Given the description of an element on the screen output the (x, y) to click on. 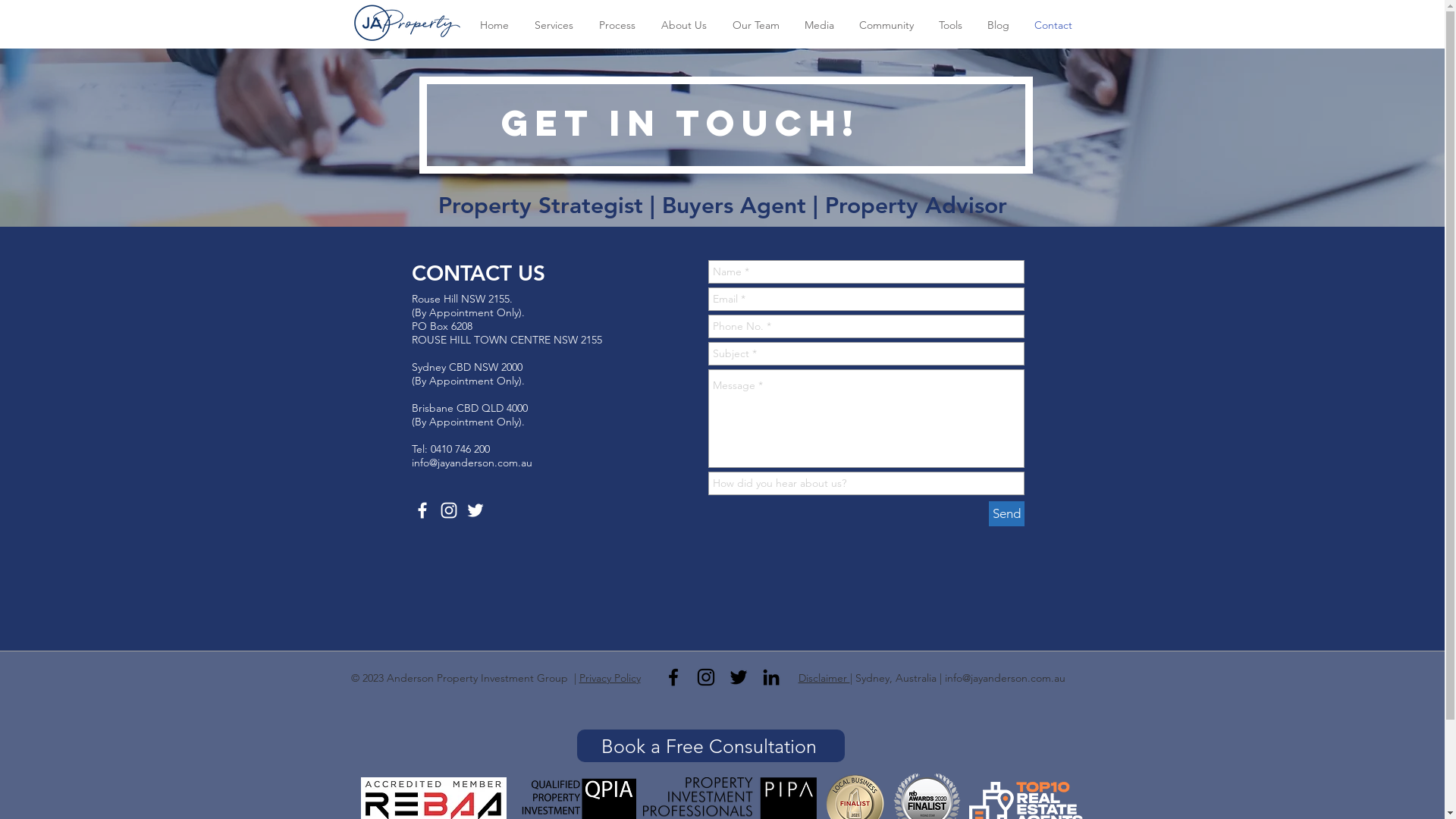
info@jayanderson.com.au Element type: text (1004, 677)
About Us Element type: text (682, 25)
Media Element type: text (818, 25)
Our Team Element type: text (754, 25)
Services Element type: text (553, 25)
Tools Element type: text (950, 25)
Blog Element type: text (998, 25)
Privacy Policy Element type: text (609, 677)
Book a Free Consultation Element type: text (710, 745)
Contact Element type: text (1053, 25)
info@jayanderson.com.au Element type: text (471, 462)
Community Element type: text (885, 25)
Home Element type: text (494, 25)
Send Element type: text (1006, 513)
Process Element type: text (616, 25)
Disclaimer  Element type: text (823, 677)
